Given the description of an element on the screen output the (x, y) to click on. 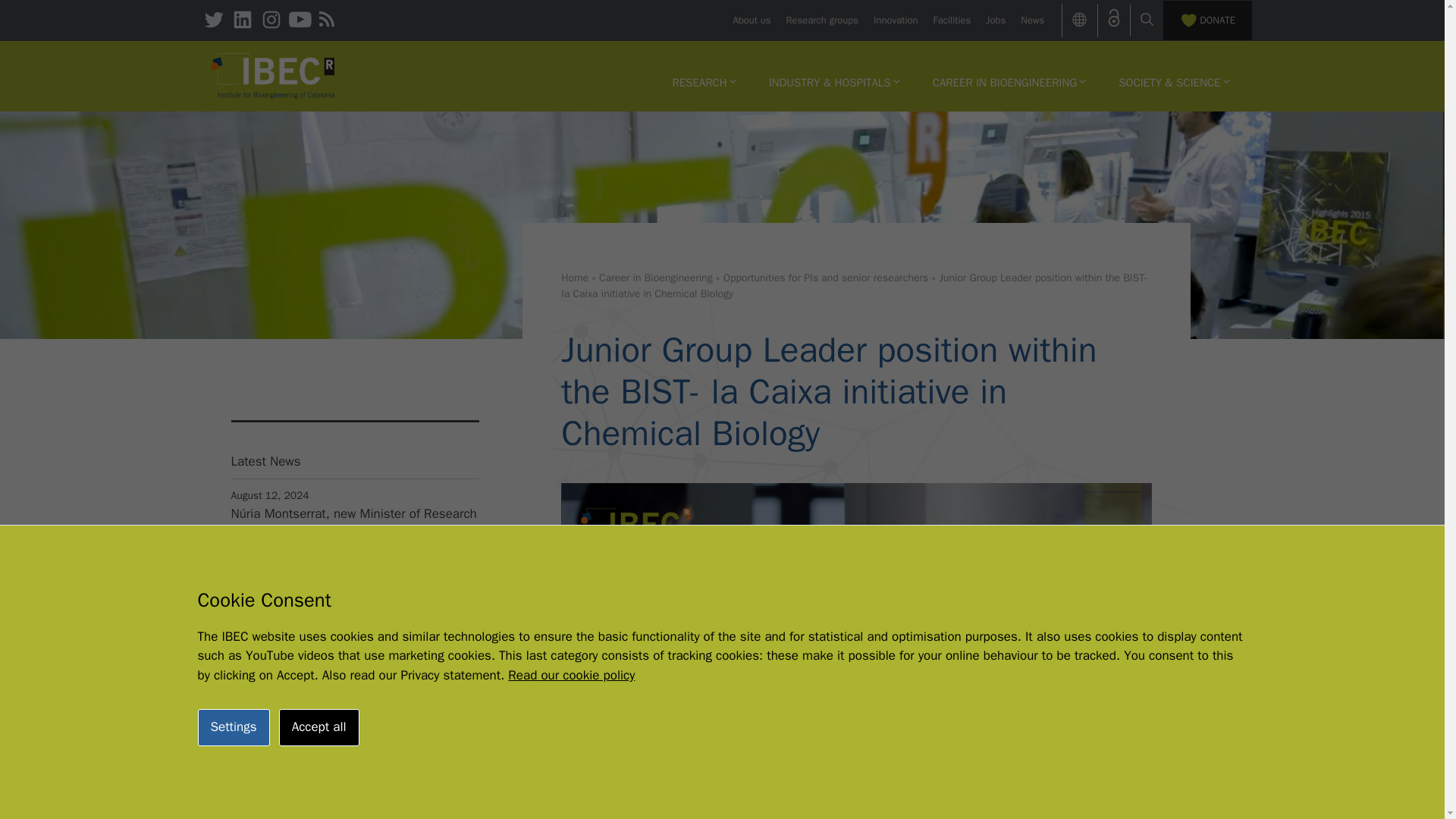
DONATE (1207, 20)
Institute for Bioengineering of Catalonia (272, 75)
Facilities (952, 19)
Institute for Bioengineering of Catalonia (272, 74)
Research groups (822, 19)
About us (751, 19)
Jobs (995, 19)
RESEARCH (704, 81)
Innovation (895, 19)
News (1031, 19)
